Given the description of an element on the screen output the (x, y) to click on. 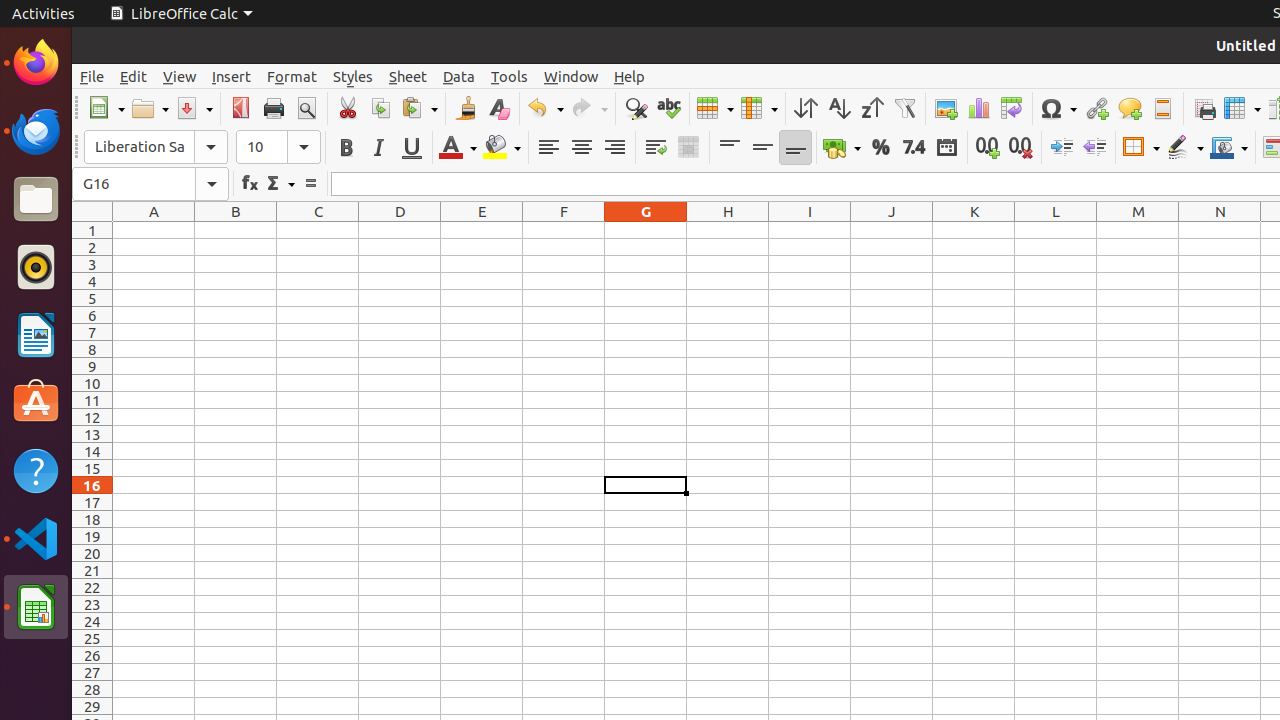
Align Left Element type: push-button (548, 147)
Name Box Element type: combo-box (150, 184)
Font Size Element type: combo-box (278, 147)
Copy Element type: push-button (380, 108)
